Given the description of an element on the screen output the (x, y) to click on. 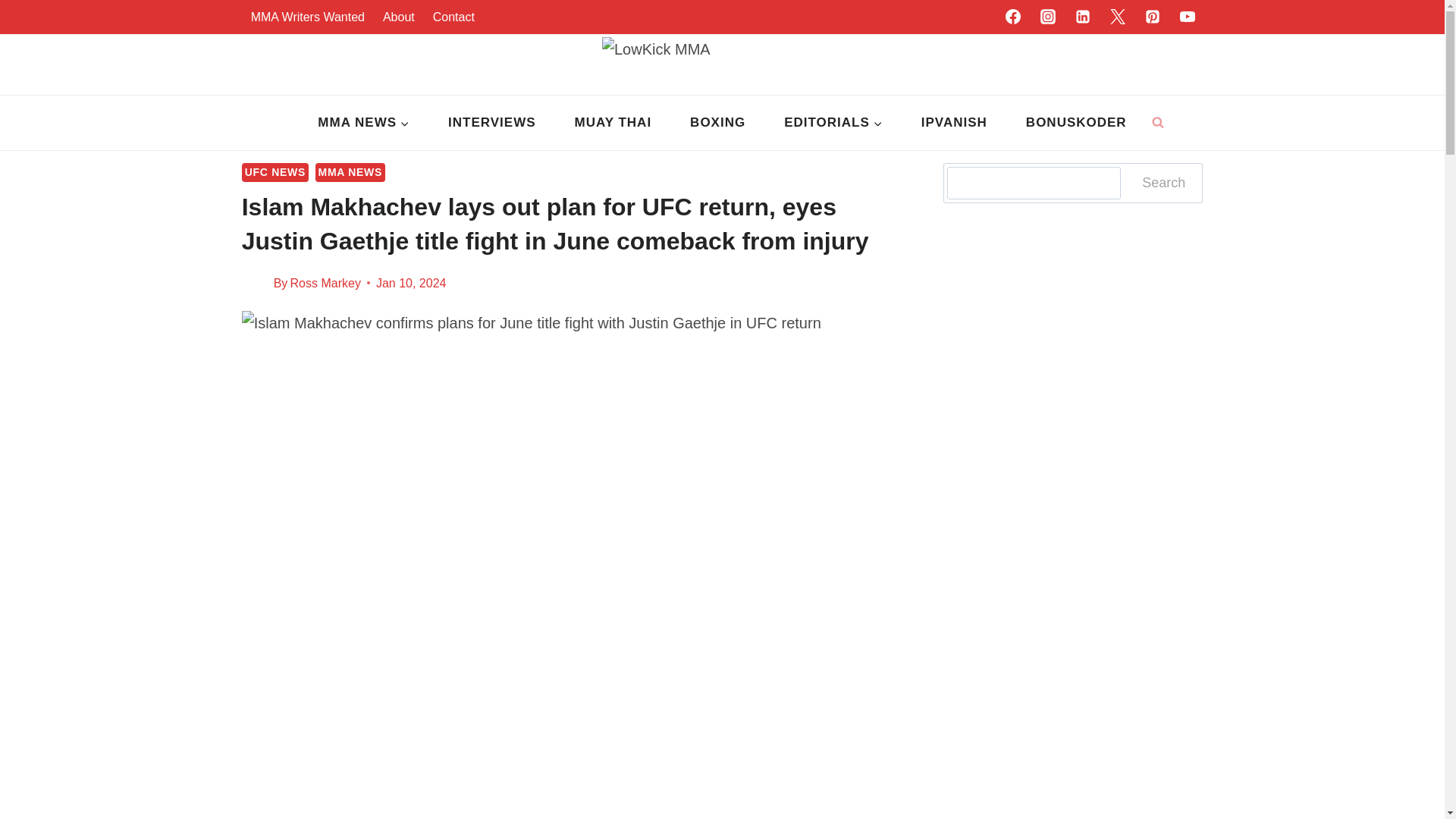
BOXING (718, 122)
BONUSKODER (1075, 122)
INTERVIEWS (491, 122)
IPVANISH (953, 122)
About (398, 17)
Contact (453, 17)
EDITORIALS (833, 122)
MUAY THAI (612, 122)
